Given the description of an element on the screen output the (x, y) to click on. 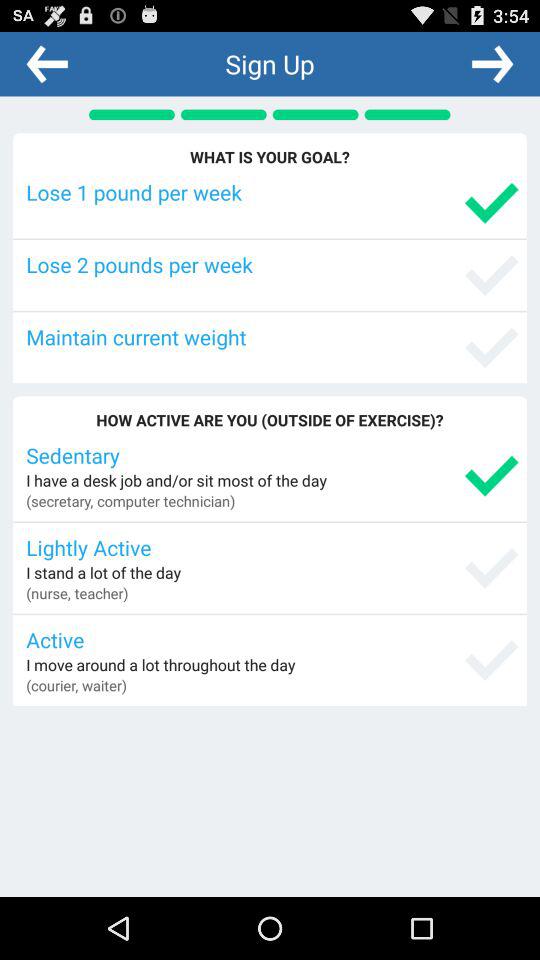
choose item above the what is your icon (492, 63)
